Given the description of an element on the screen output the (x, y) to click on. 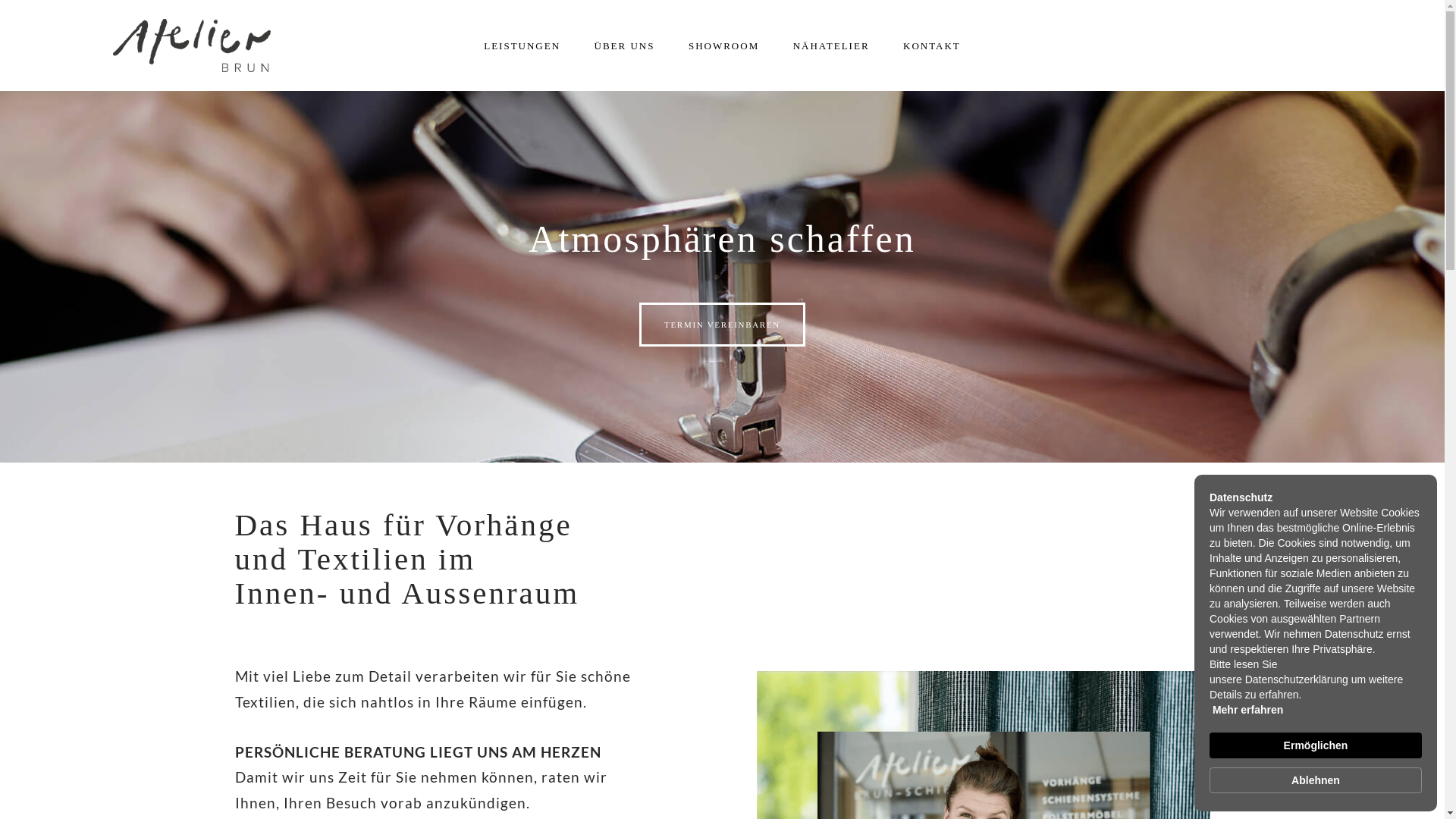
TERMIN VEREINBAREN Element type: text (722, 324)
LEISTUNGEN Element type: text (521, 45)
Mehr erfahren Element type: text (1247, 709)
SHOWROOM Element type: text (723, 45)
KONTAKT Element type: text (931, 45)
